Given the description of an element on the screen output the (x, y) to click on. 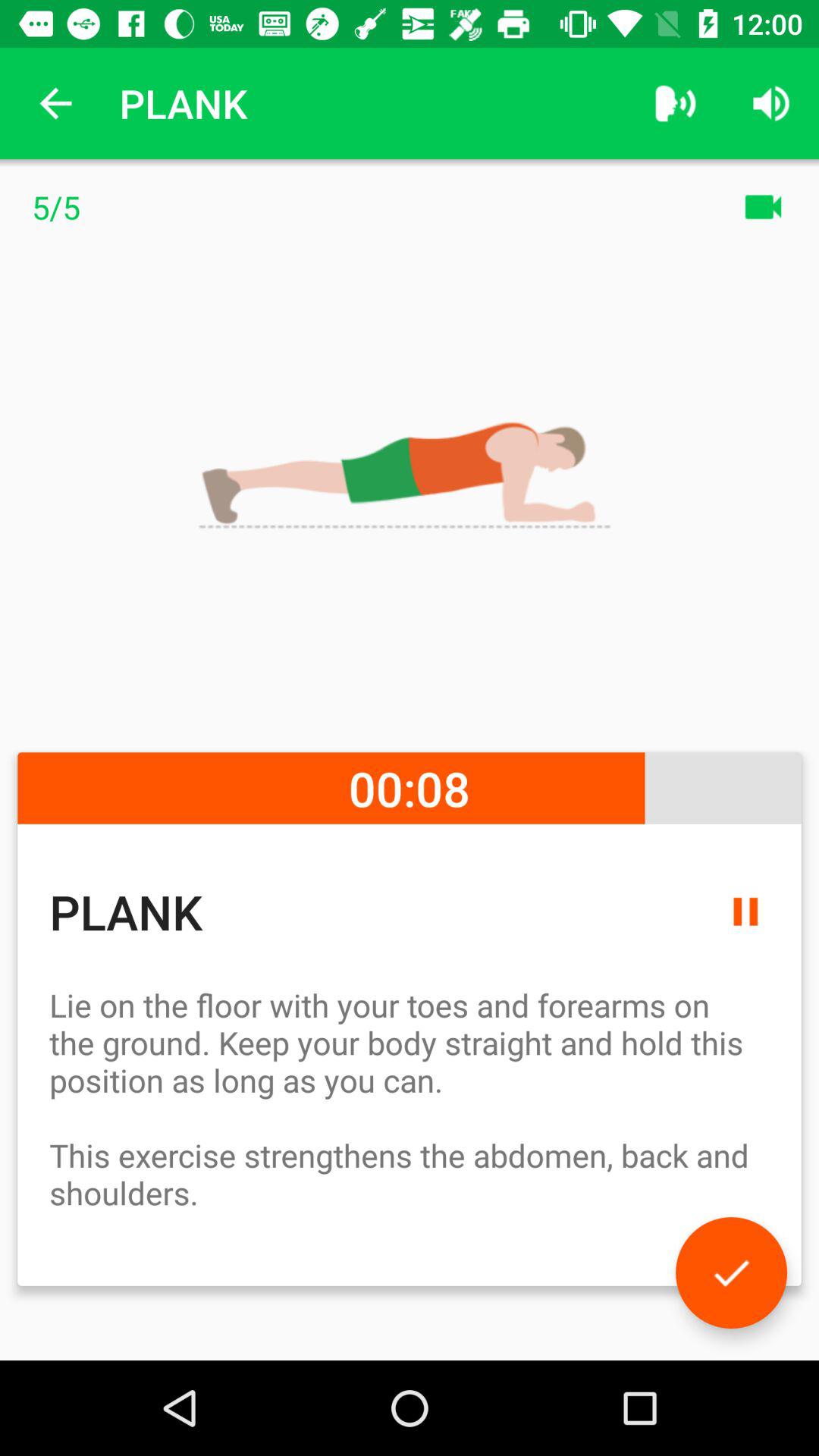
validate the exercice (731, 1272)
